Given the description of an element on the screen output the (x, y) to click on. 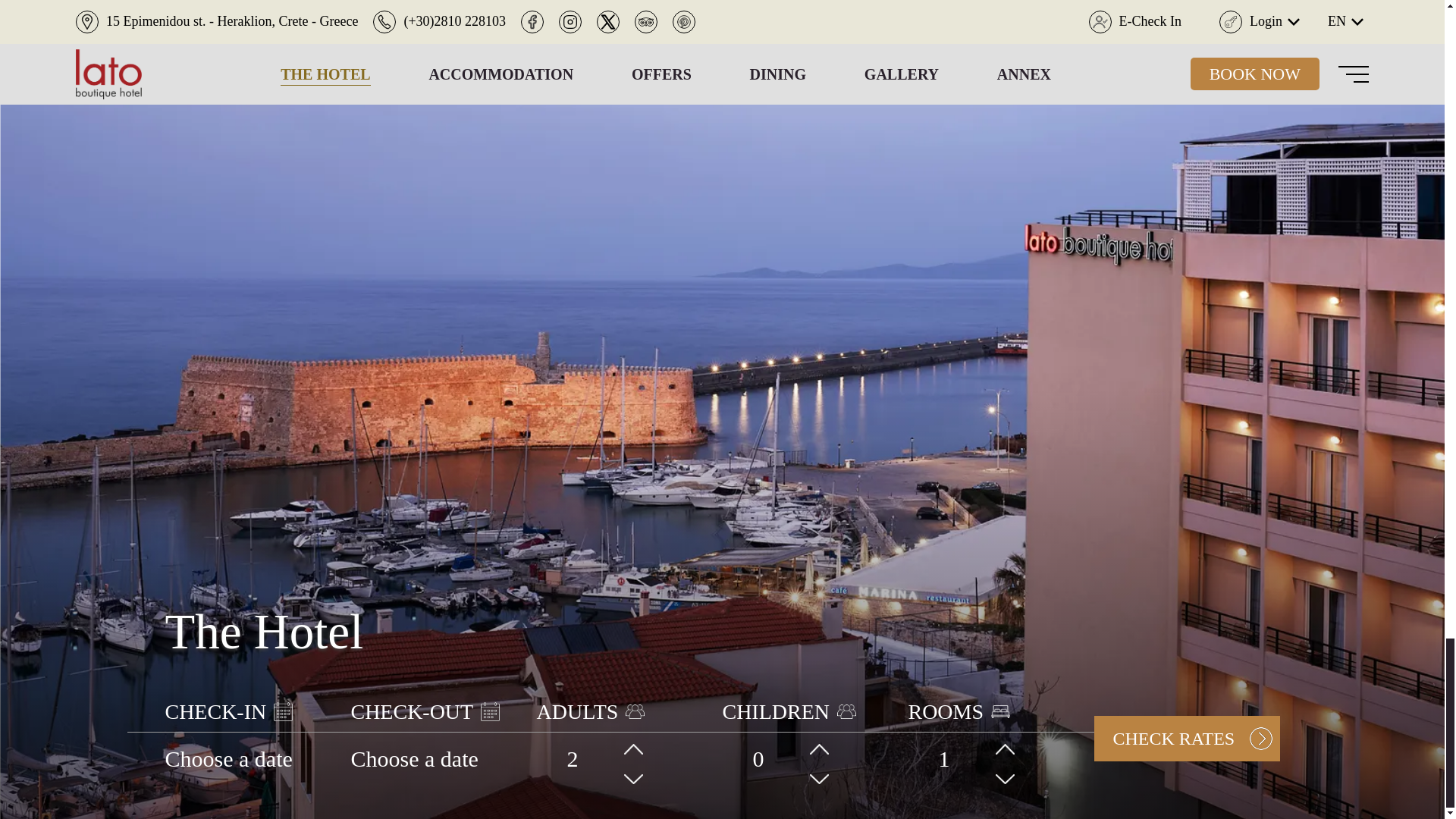
Facebook (638, 732)
logo (1227, 645)
Tripadvisor (763, 732)
Twitter (721, 732)
logo (1122, 645)
Instagram (680, 732)
Logo (721, 284)
